Given the description of an element on the screen output the (x, y) to click on. 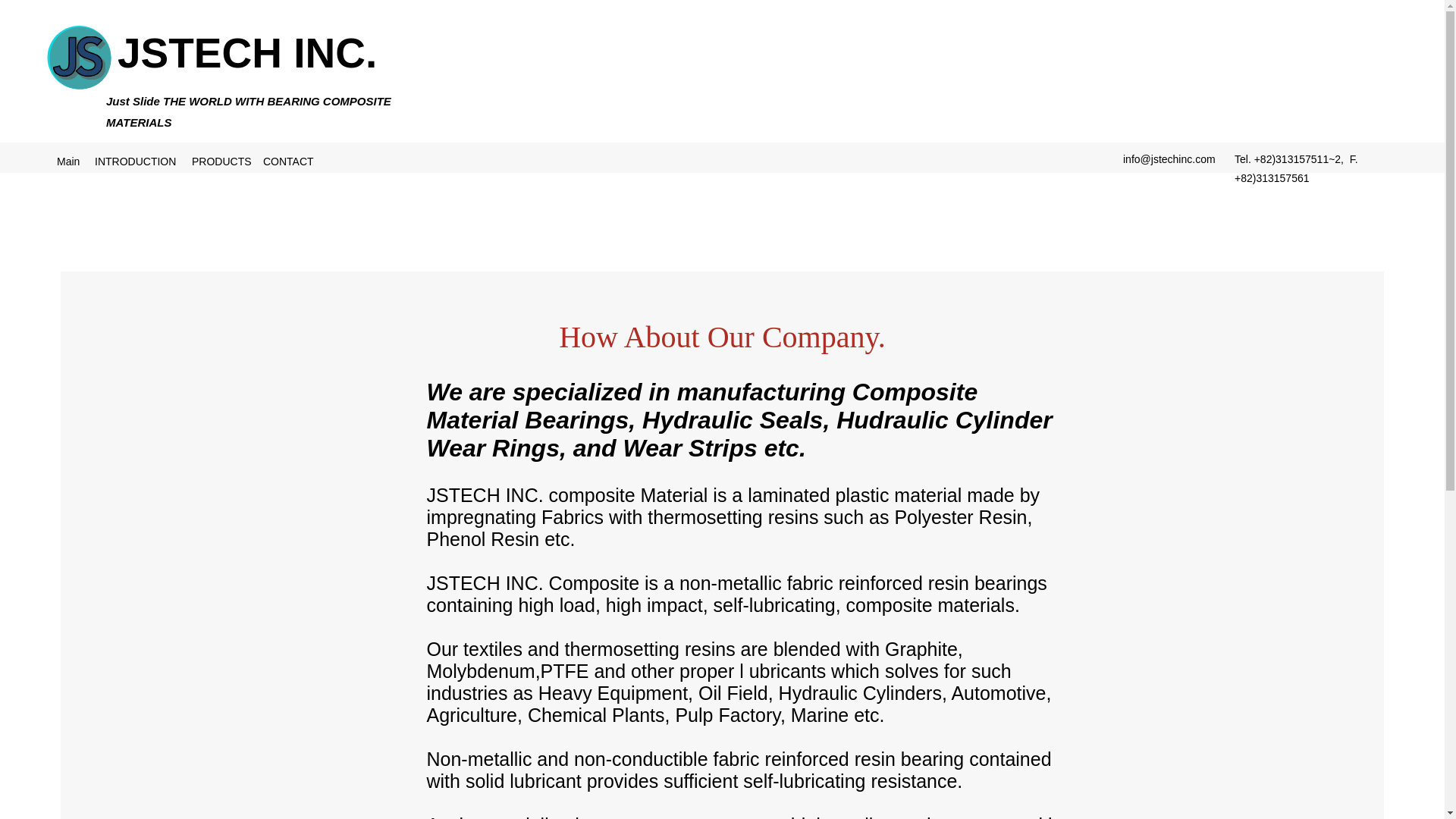
Main (68, 160)
CONTACT (288, 160)
JSTECH INC. (247, 52)
